Given the description of an element on the screen output the (x, y) to click on. 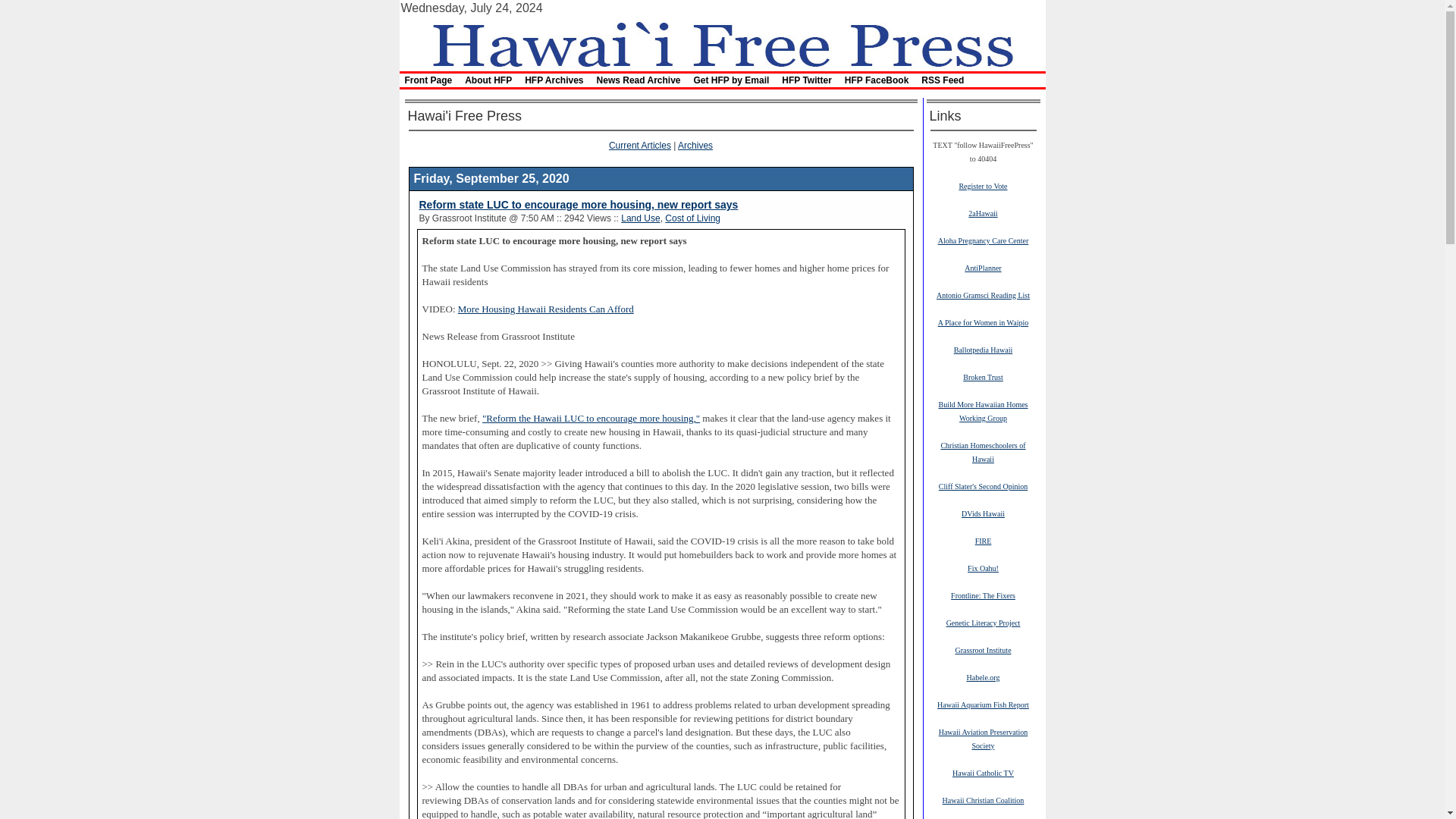
Aloha Pregnancy Care Center (983, 240)
Land Use (640, 217)
Hawaii Catholic TV (982, 772)
Reform state LUC to encourage more housing, new report says (578, 204)
2aHawaii (982, 213)
Register to Vote (982, 185)
Cliff Slater's Second Opinion (983, 485)
FIRE (983, 540)
DVids Hawaii (982, 512)
Fix Oahu! (983, 567)
Hawaii Aviation Preservation Society (983, 738)
Broken Trust (982, 376)
Build More Hawaiian Homes Working Group (982, 410)
Habele.org (983, 676)
AntiPlanner (982, 267)
